Given the description of an element on the screen output the (x, y) to click on. 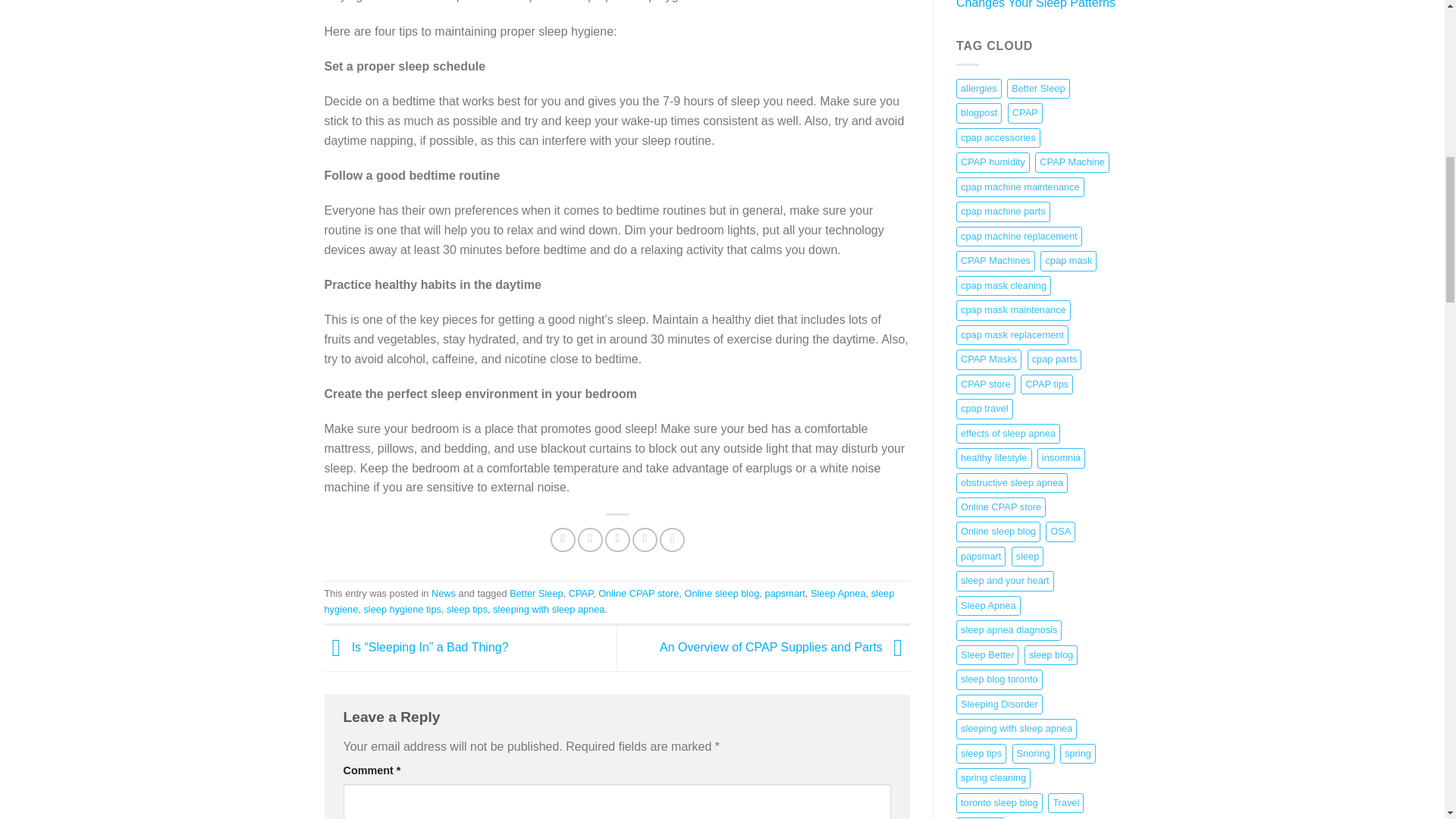
Share on Facebook (562, 539)
Email to a Friend (617, 539)
Share on LinkedIn (671, 539)
Share on Twitter (590, 539)
Pin on Pinterest (644, 539)
